Given the description of an element on the screen output the (x, y) to click on. 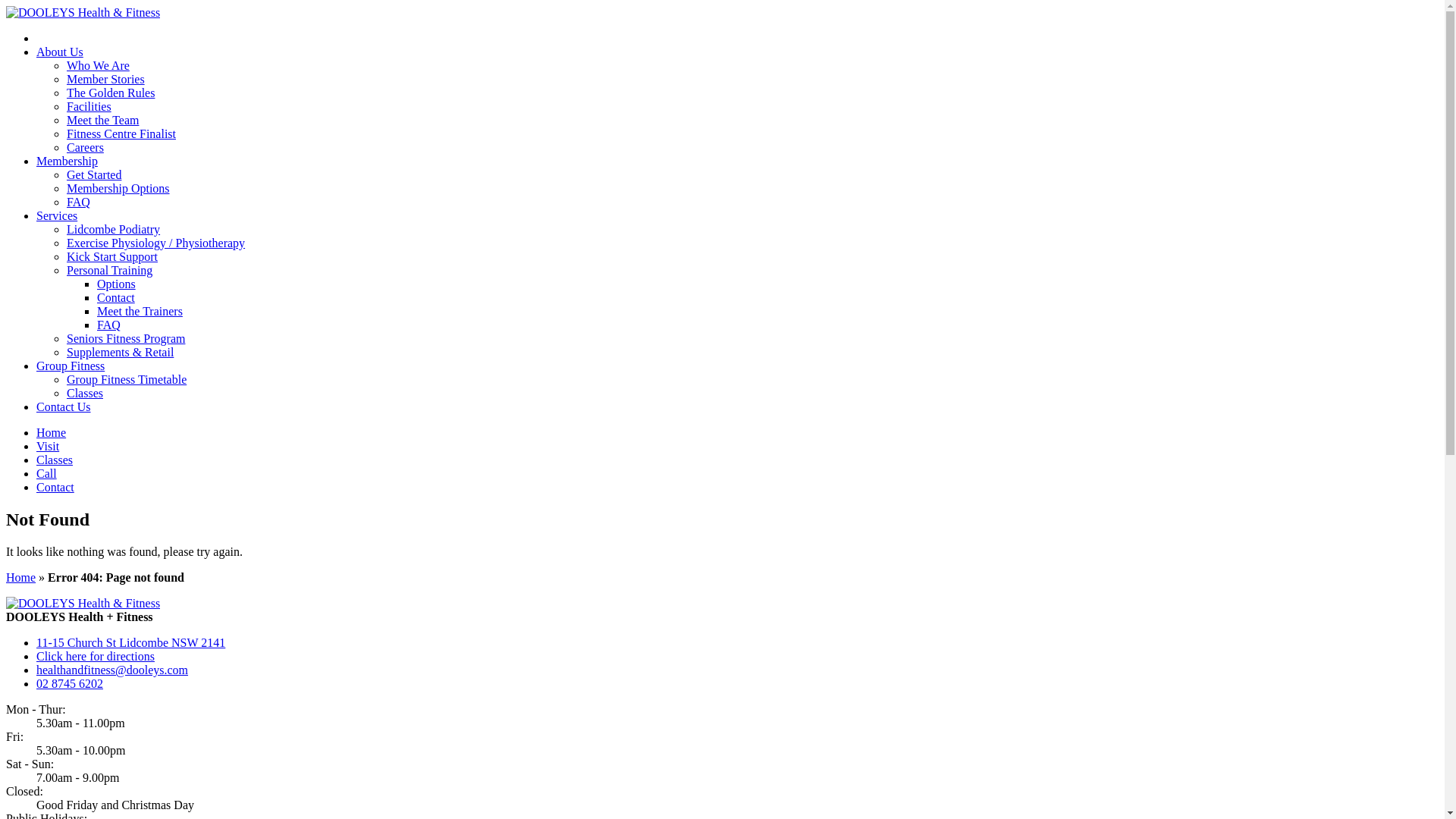
Home Element type: text (20, 577)
Who We Are Element type: text (97, 65)
Meet the Team Element type: text (102, 119)
Classes Element type: text (84, 392)
Careers Element type: text (84, 147)
11-15 Church St Lidcombe NSW 2141 Element type: text (130, 642)
healthandfitness@dooleys.com Element type: text (112, 669)
Contact Us Element type: text (63, 406)
Seniors Fitness Program Element type: text (125, 338)
Kick Start Support Element type: text (111, 256)
FAQ Element type: text (108, 324)
Get Started Element type: text (93, 174)
Supplements & Retail Element type: text (119, 351)
02 8745 6202 Element type: text (69, 683)
Membership Element type: text (66, 160)
Lidcombe Podiatry Element type: text (113, 228)
Membership Options Element type: text (117, 188)
Group Fitness Element type: text (70, 365)
Meet the Trainers Element type: text (139, 310)
Home Element type: text (50, 432)
Fitness Centre Finalist Element type: text (120, 133)
Services Element type: text (56, 215)
Exercise Physiology / Physiotherapy Element type: text (155, 242)
Personal Training Element type: text (109, 269)
Click here for directions Element type: text (95, 655)
Facilities Element type: text (88, 106)
The Golden Rules Element type: text (110, 92)
Contact Element type: text (55, 486)
Call Element type: text (46, 473)
FAQ Element type: text (78, 201)
Group Fitness Timetable Element type: text (126, 379)
About Us Element type: text (59, 51)
Classes Element type: text (54, 459)
Options Element type: text (116, 283)
Member Stories Element type: text (105, 78)
Contact Element type: text (115, 297)
Visit Element type: text (47, 445)
